Given the description of an element on the screen output the (x, y) to click on. 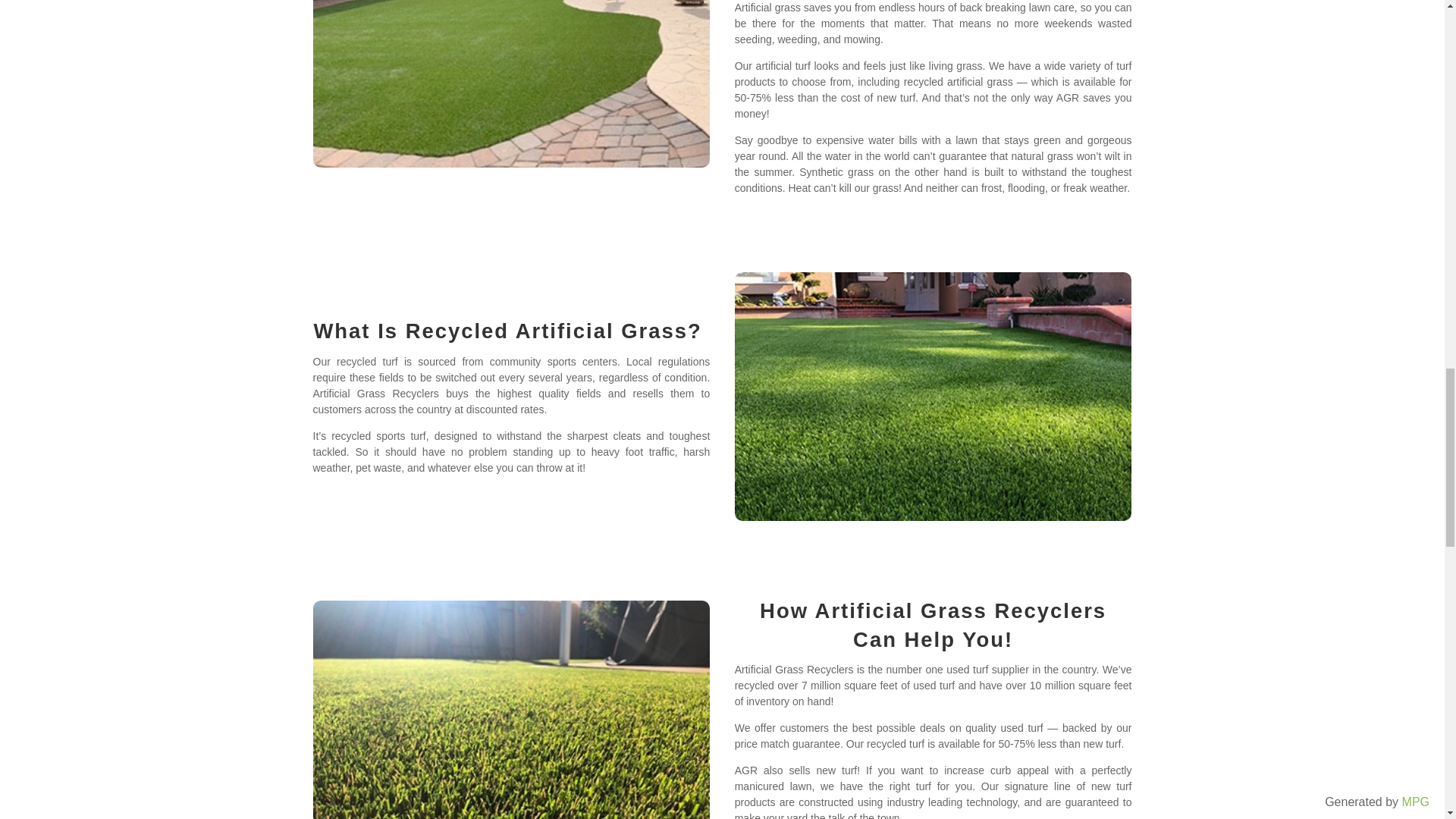
AGR-Installation-Photos-So-Natural-70-Gold-03-800x350px (511, 709)
AGR-Installation-Photos-So-Natural-70-Gold-01-800x350px (511, 83)
